Given the description of an element on the screen output the (x, y) to click on. 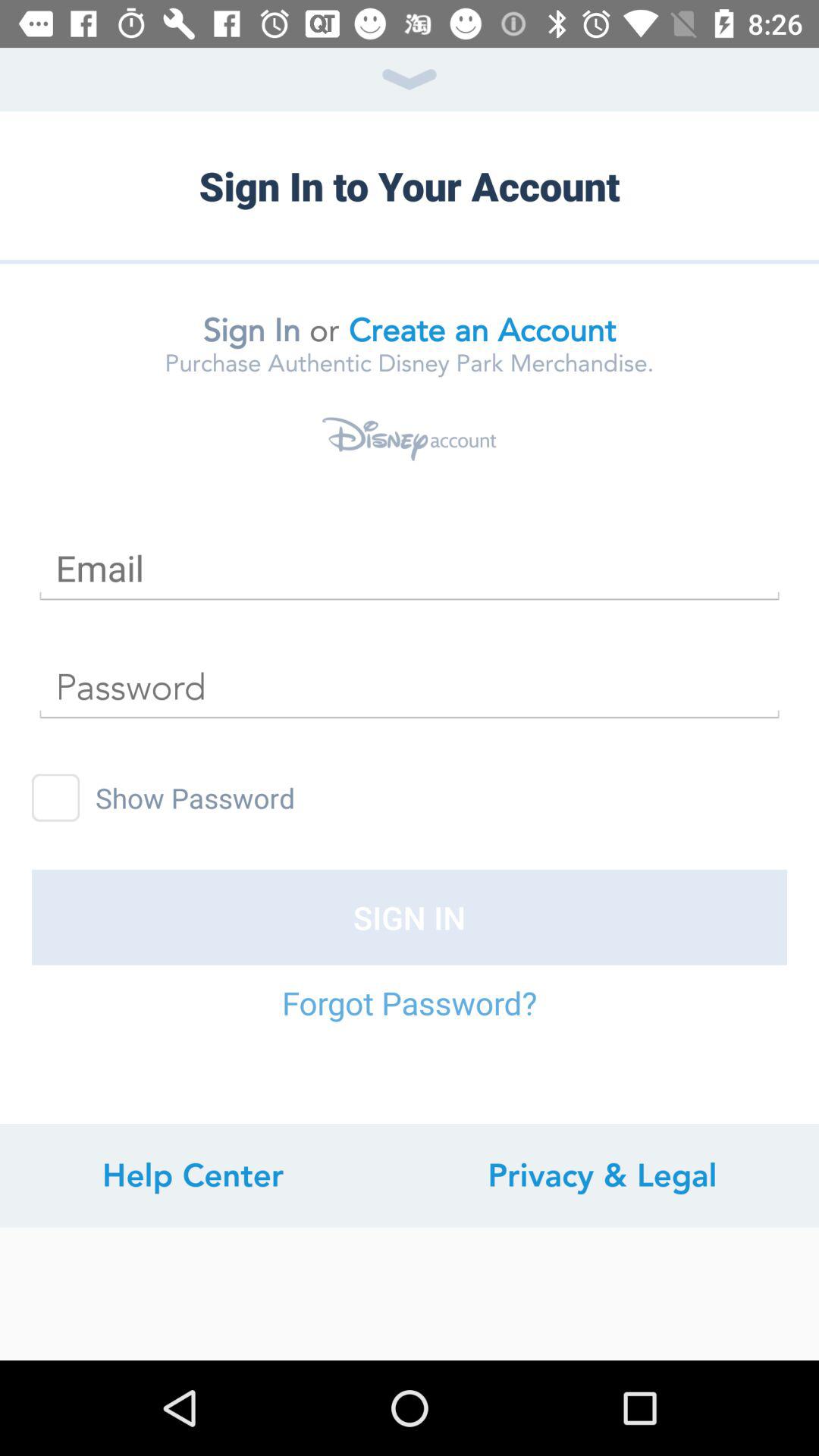
press privacy & legal (602, 1175)
